Given the description of an element on the screen output the (x, y) to click on. 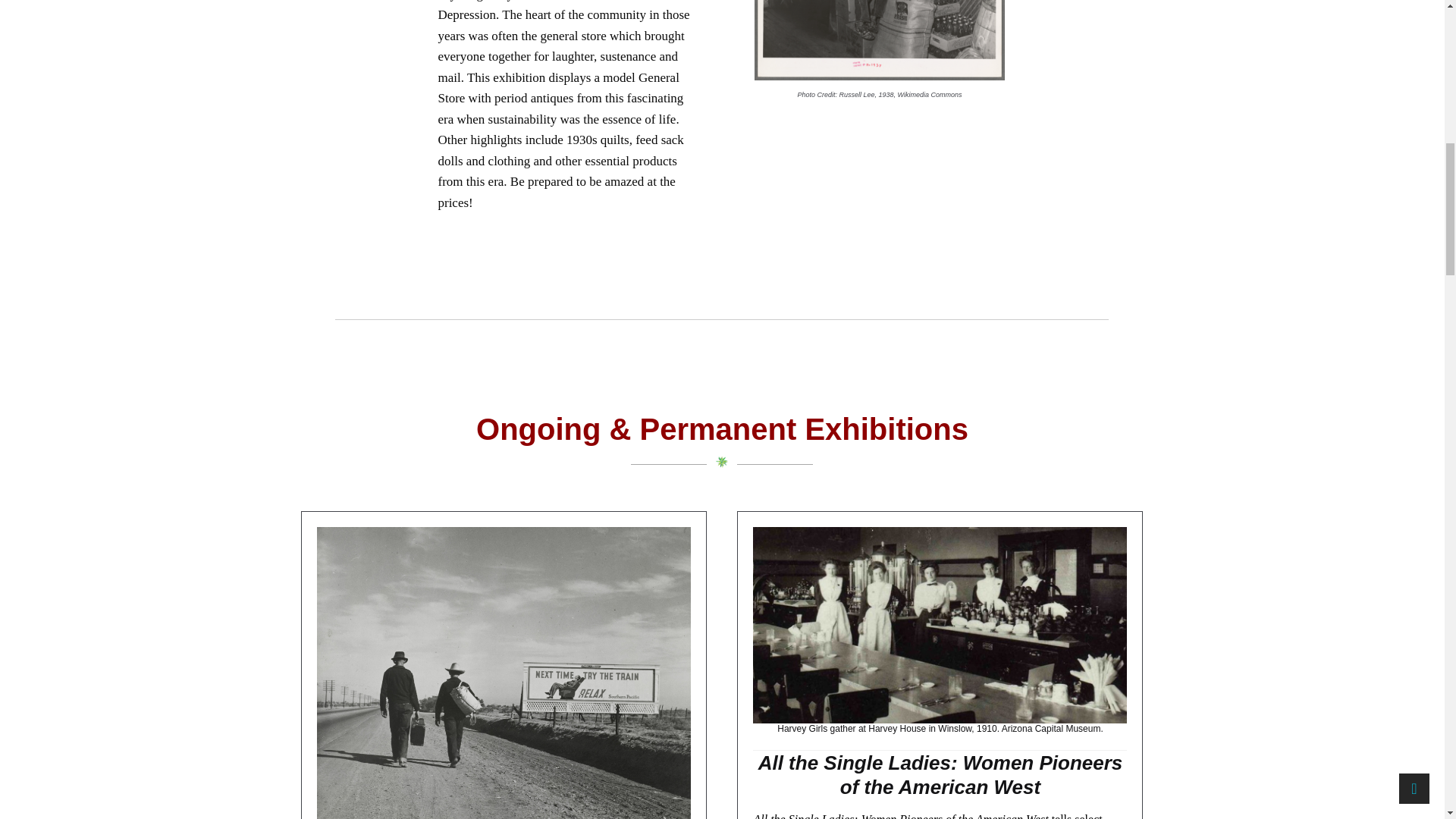
Screen Shot 2023-08-28 at 1.36.24 PM (879, 40)
